Given the description of an element on the screen output the (x, y) to click on. 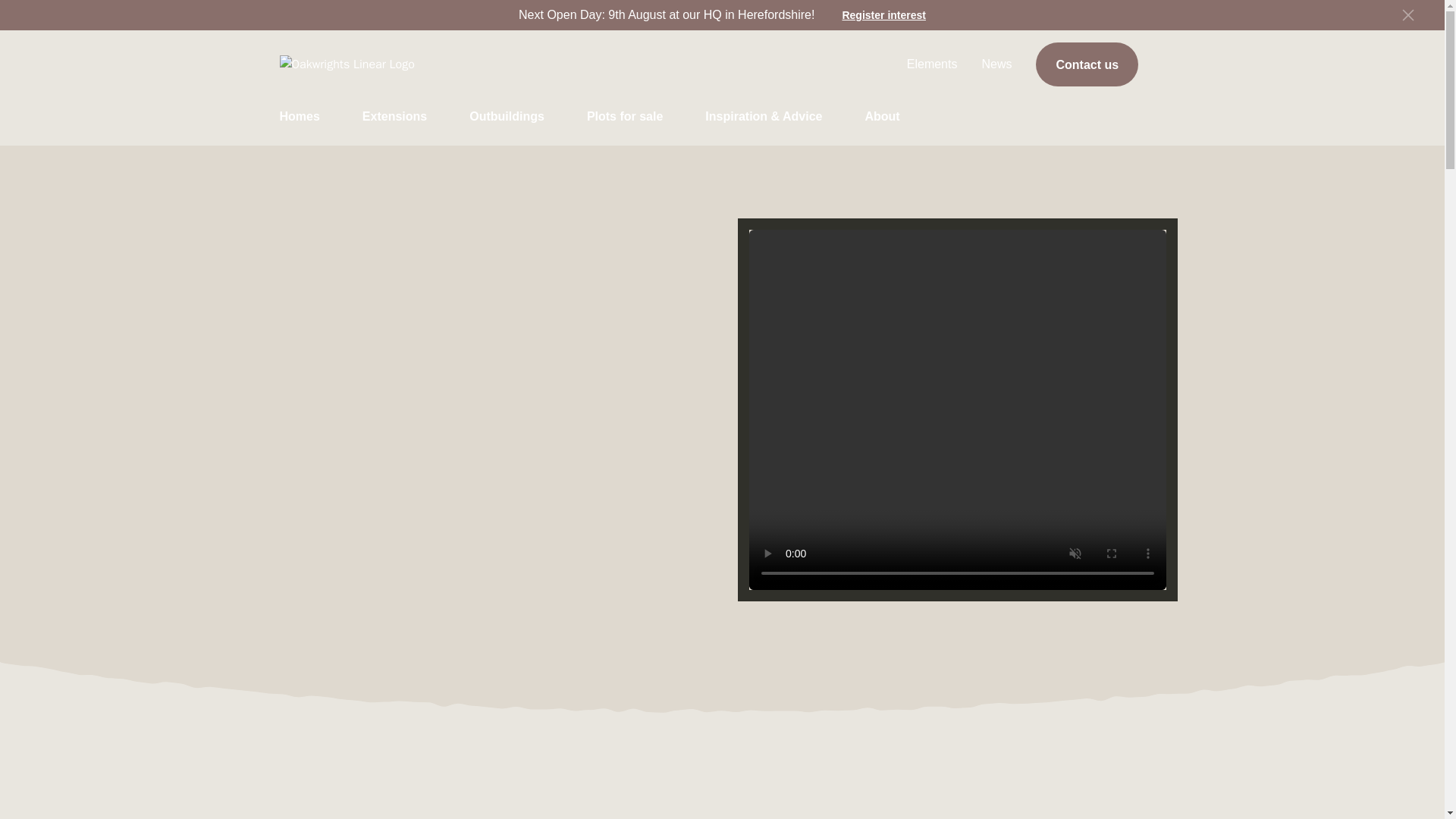
Homes (298, 116)
Plots for sale (624, 116)
Contact us (1086, 64)
Elements (932, 64)
About (881, 116)
Outbuildings (506, 116)
Extensions (394, 116)
News (996, 64)
Contact us (1086, 64)
